Given the description of an element on the screen output the (x, y) to click on. 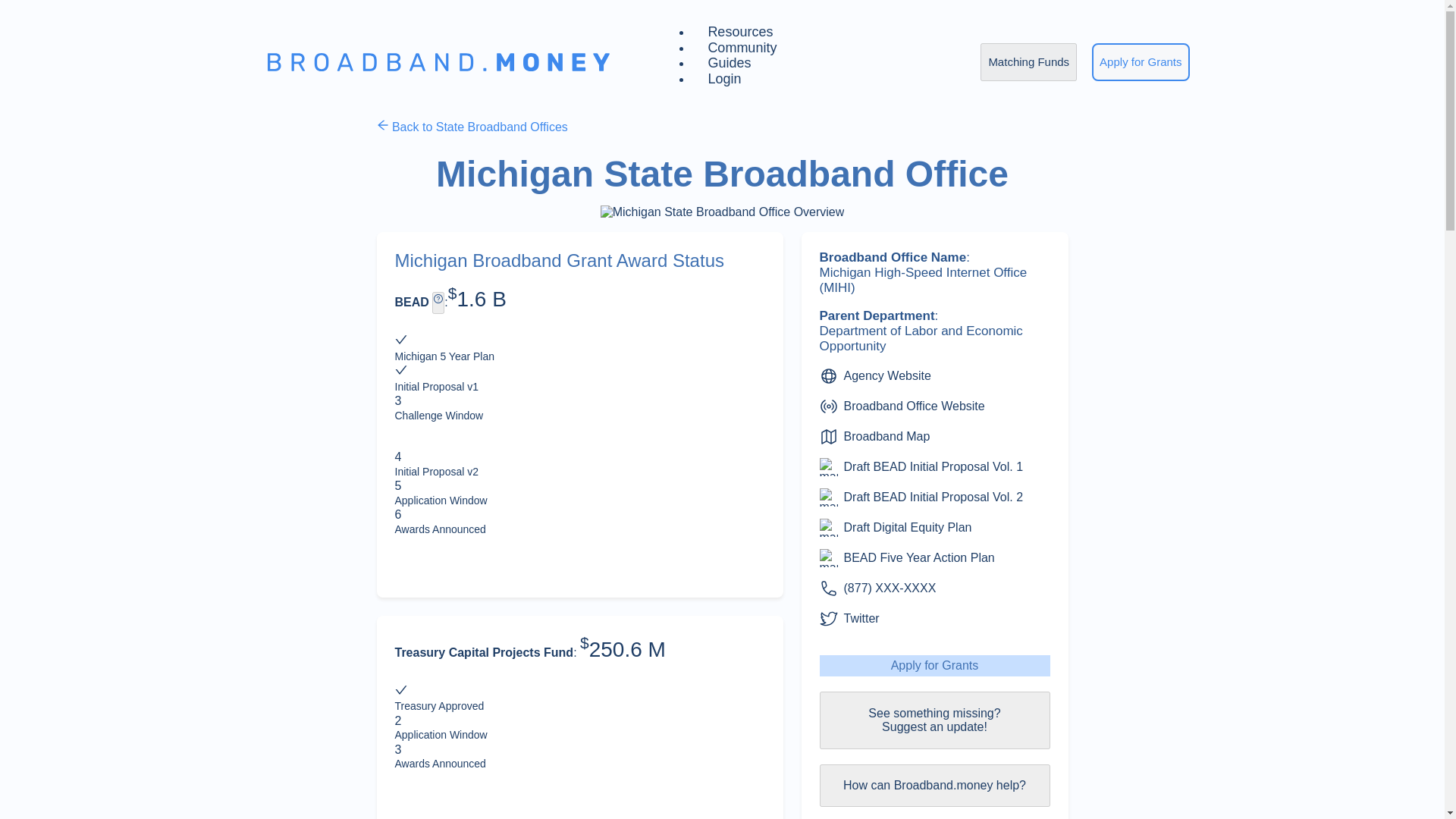
Broadband Map (886, 436)
Twitter (861, 618)
Matching Funds (1028, 61)
Draft Digital Equity Plan (907, 527)
Apply for Grants (1140, 62)
How can Broadband.money help? (933, 785)
Login (724, 78)
Guides (729, 62)
Apply for Grants (933, 665)
Agency Website (886, 375)
